Given the description of an element on the screen output the (x, y) to click on. 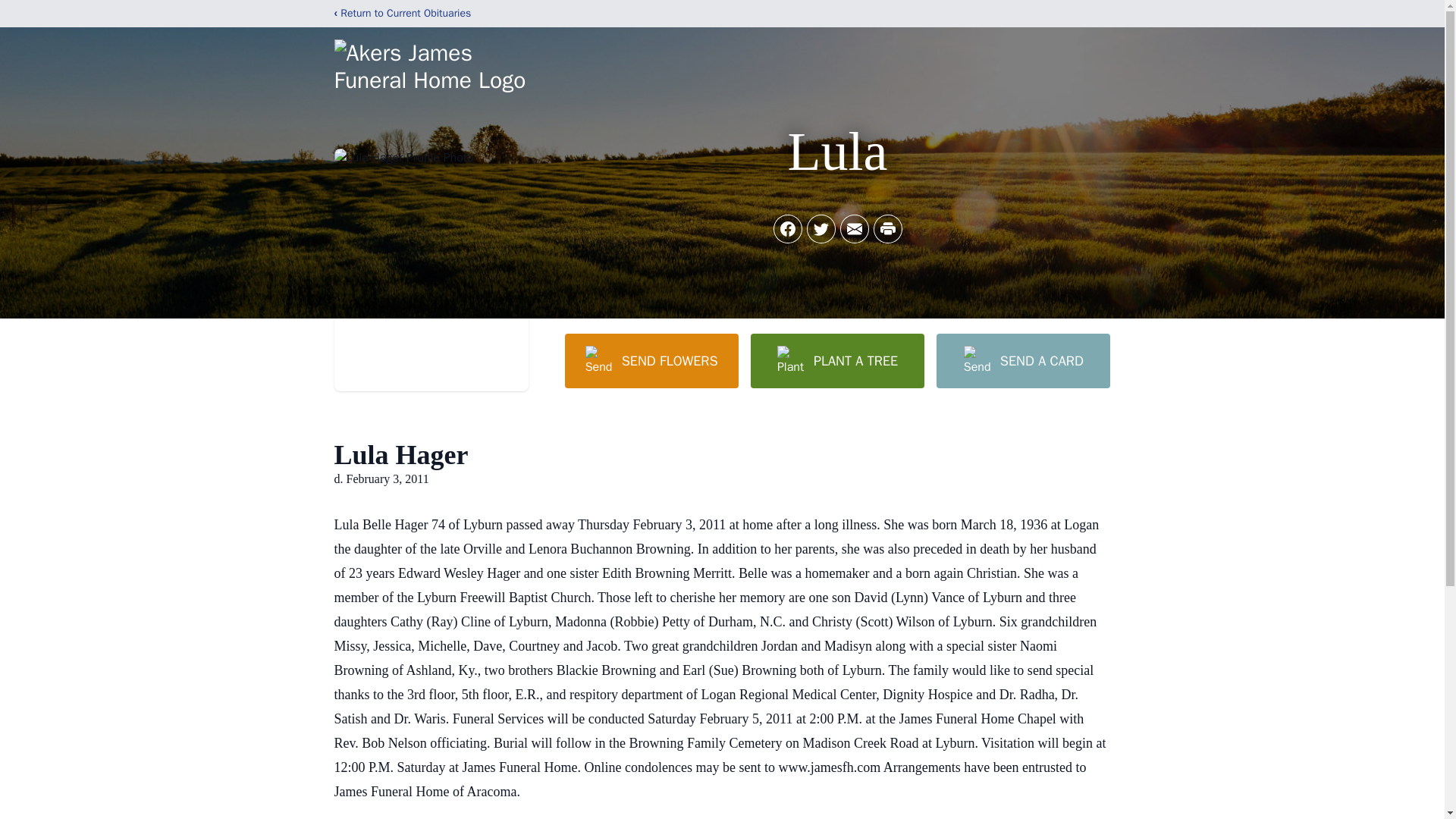
SEND A CARD (1022, 360)
SEND FLOWERS (651, 360)
PLANT A TREE (837, 360)
